Given the description of an element on the screen output the (x, y) to click on. 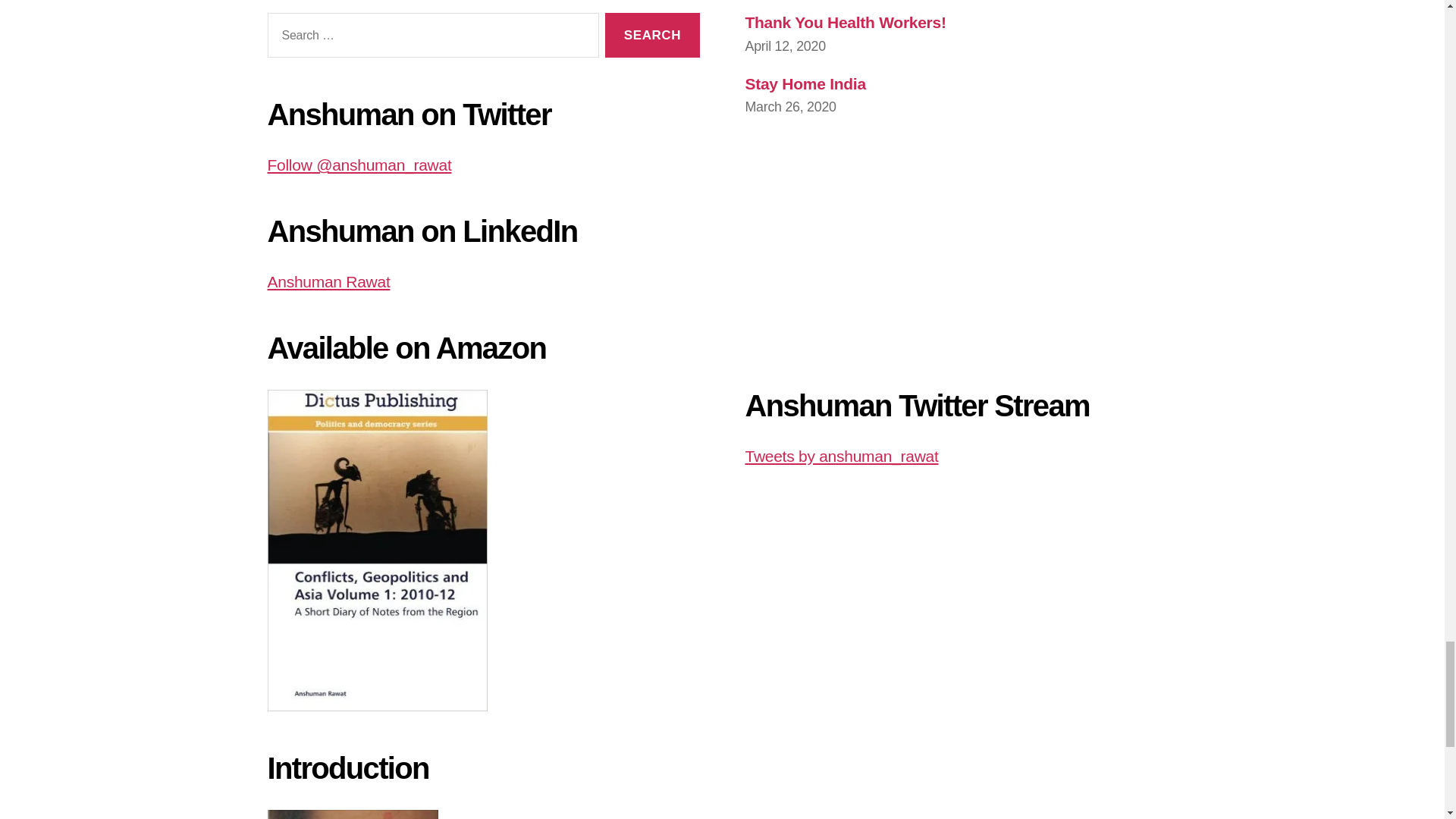
Search (651, 35)
Search (651, 35)
